Given the description of an element on the screen output the (x, y) to click on. 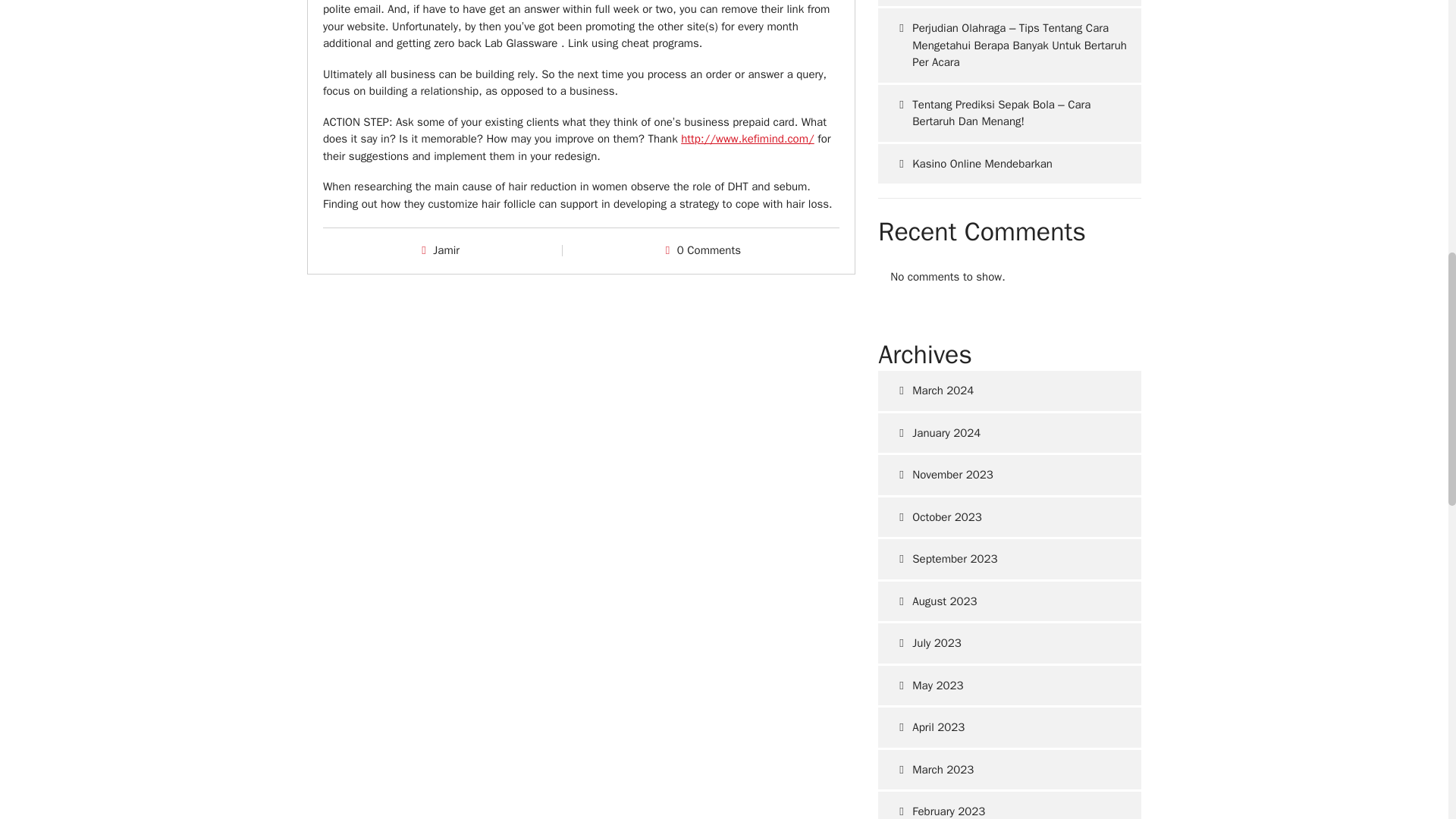
November 2023 (1009, 475)
October 2023 (1009, 517)
Apa Itu Poker Face-ing? (1009, 3)
0 Comments (709, 250)
March 2024 (1009, 391)
Kasino Online Mendebarkan (1009, 164)
January 2024 (1009, 433)
Jamir (446, 250)
